Given the description of an element on the screen output the (x, y) to click on. 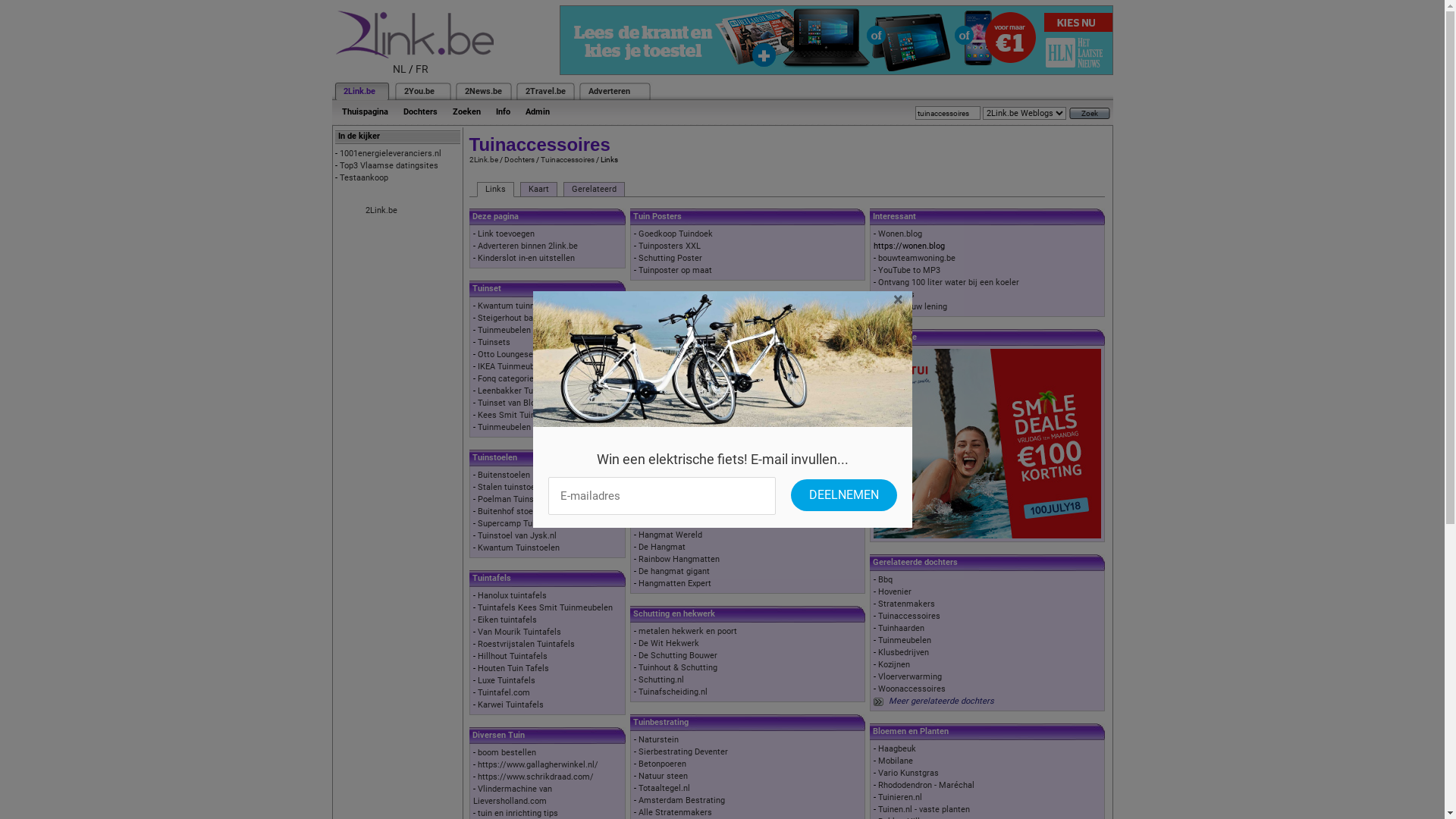
2News.be Element type: text (482, 91)
Beeldenmarkt Element type: text (664, 462)
Tuintafel.com Element type: text (503, 692)
Steigerhout bankje Element type: text (513, 318)
Vlindermachine van Lieversholland.com Element type: text (512, 795)
Luxe Tuintafels Element type: text (506, 680)
Zoek Element type: text (1089, 113)
Meer gerelateerde dochters Element type: text (941, 701)
Tuinbeelden Element type: text (661, 426)
Eiken tuintafels Element type: text (506, 619)
Testaankoop Element type: text (363, 177)
Tuinbeelden van Tooms Element type: text (682, 475)
Tuinen.nl - vaste planten Element type: text (923, 809)
IKEA Tuinmeubel sets Element type: text (518, 366)
Betonpoeren Element type: text (662, 763)
Vuurtonnen.nl Element type: text (664, 330)
Amsterdam Bestrating Element type: text (681, 800)
Vuurkorf Winkel Element type: text (668, 366)
metalen hekwerk en poort Element type: text (687, 631)
Poelman Tuinstoelen Element type: text (517, 499)
Sierbestrating Deventer Element type: text (683, 751)
Vuurschalen Visie Element type: text (672, 318)
Tuinmeubelen Element type: text (503, 330)
Tuinmeubelen Element type: text (904, 640)
Klusbedrijven Element type: text (903, 652)
Stalen tuinstoelen van Bogaart Element type: text (535, 487)
Tuinaccessoires Element type: text (566, 159)
Adverteren Element type: text (609, 91)
Bereken uw lening Element type: text (912, 306)
Hovenier Element type: text (894, 591)
Tuinposter op maat Element type: text (675, 270)
Roestvrijstalen Tuintafels Element type: text (525, 644)
YouTube to MP3 Element type: text (909, 270)
2Link.be Element type: text (482, 159)
Natuur steen Element type: text (662, 776)
Tuinstoel van Jysk.nl Element type: text (516, 535)
Moderne Tuinbeelden Element type: text (678, 487)
boom bestellen Element type: text (506, 752)
tuin en inrichting tips Element type: text (517, 813)
Van Mourik Tuintafels Element type: text (519, 632)
Mobilane Element type: text (895, 760)
2Travel.be Element type: text (544, 91)
Alle Stratenmakers Element type: text (675, 812)
2Link.be Element type: text (358, 91)
1001energieleveranciers.nl Element type: text (390, 153)
Tuinsets Element type: text (493, 342)
Top3 Vlaamse datingsites Element type: text (388, 165)
Geschikte Vuurschaal Element type: text (679, 342)
Thuispagina Element type: text (364, 111)
Tuintafels Kees Smit Tuinmeubelen Element type: text (544, 607)
Schutting Poster Element type: text (670, 258)
Tuinhout & Schutting Element type: text (677, 667)
Schutting.nl Element type: text (661, 679)
https://www.gallagherwinkel.nl/ Element type: text (537, 764)
Ontvang 100 liter water bij een koeler Element type: text (948, 282)
Kinderslot in-en uitstellen Element type: text (525, 258)
De Tuinbeelden Boerderij Element type: text (685, 450)
Zoeken Element type: text (465, 111)
2You.be Element type: text (418, 91)
Woonaccessoires Element type: text (911, 688)
Stratenmakers Element type: text (906, 603)
Kwantum Tuinstoelen Element type: text (518, 547)
https://www.schrikdraad.com/ Element type: text (535, 776)
Leenbakker Tuinsets Element type: text (516, 390)
Link toevoegen Element type: text (505, 233)
De Hangmat Element type: text (661, 547)
Hangmatten Expert Element type: text (674, 583)
Bbq Element type: text (885, 579)
NL Element type: text (399, 68)
Haagbeuk Element type: text (897, 748)
Kwantum tuinmeubelen Element type: text (522, 305)
Tuinmeubelen set Element type: text (511, 427)
Tuinbeelden | bronzenbeeldenwinkel Element type: text (706, 438)
Vloerverwarming Element type: text (909, 676)
Houten Tuin Tafels Element type: text (513, 668)
De Schutting Bouwer Element type: text (677, 655)
Karwei Tuintafels Element type: text (510, 704)
Tuinaccessoires Element type: text (909, 616)
Info Element type: text (502, 111)
Vuurkorven Expert Element type: text (672, 354)
Naturstein Element type: text (658, 739)
Vario Kunstgras Element type: text (908, 773)
Kaart Element type: text (538, 189)
De hangmat gigant Element type: text (673, 571)
Tuinset van Blokker Element type: text (514, 402)
Tuinieren.nl Element type: text (900, 797)
Dochters Element type: text (420, 111)
FR Element type: text (421, 68)
Otto Loungesets Element type: text (508, 354)
Links Element type: text (494, 189)
Tuinafscheiding.nl Element type: text (672, 691)
Fonq categorie tuinset Element type: text (519, 378)
Bouwgids Element type: text (896, 294)
Supercamp Tuinstoelen Element type: text (522, 523)
Vuurschalen Webshop Element type: text (680, 378)
Buitenhof stoelen Element type: text (510, 511)
Hanolux tuintafels Element type: text (511, 595)
Gerelateerd Element type: text (593, 189)
2Link.be Element type: text (381, 210)
Kees Smit Tuinsets Element type: text (514, 415)
Adverteren binnen 2link.be Element type: text (527, 246)
Wonen.blog Element type: text (900, 233)
Totaaltegel.nl Element type: text (664, 788)
Tuinhaarden Element type: text (901, 628)
bouwteamwoning.be Element type: text (916, 258)
Kozijnen Element type: text (894, 664)
Hillhout Tuintafels Element type: text (512, 656)
Rainbow Hangmatten Element type: text (678, 559)
Admin Element type: text (536, 111)
Hangmat Wereld Element type: text (670, 534)
Tuinposters XXL Element type: text (669, 246)
Dochters Element type: text (518, 159)
Goedkoop Tuindoek Element type: text (675, 233)
Buitenstoelen Element type: text (503, 475)
De Wit Hekwerk Element type: text (668, 643)
